Given the description of an element on the screen output the (x, y) to click on. 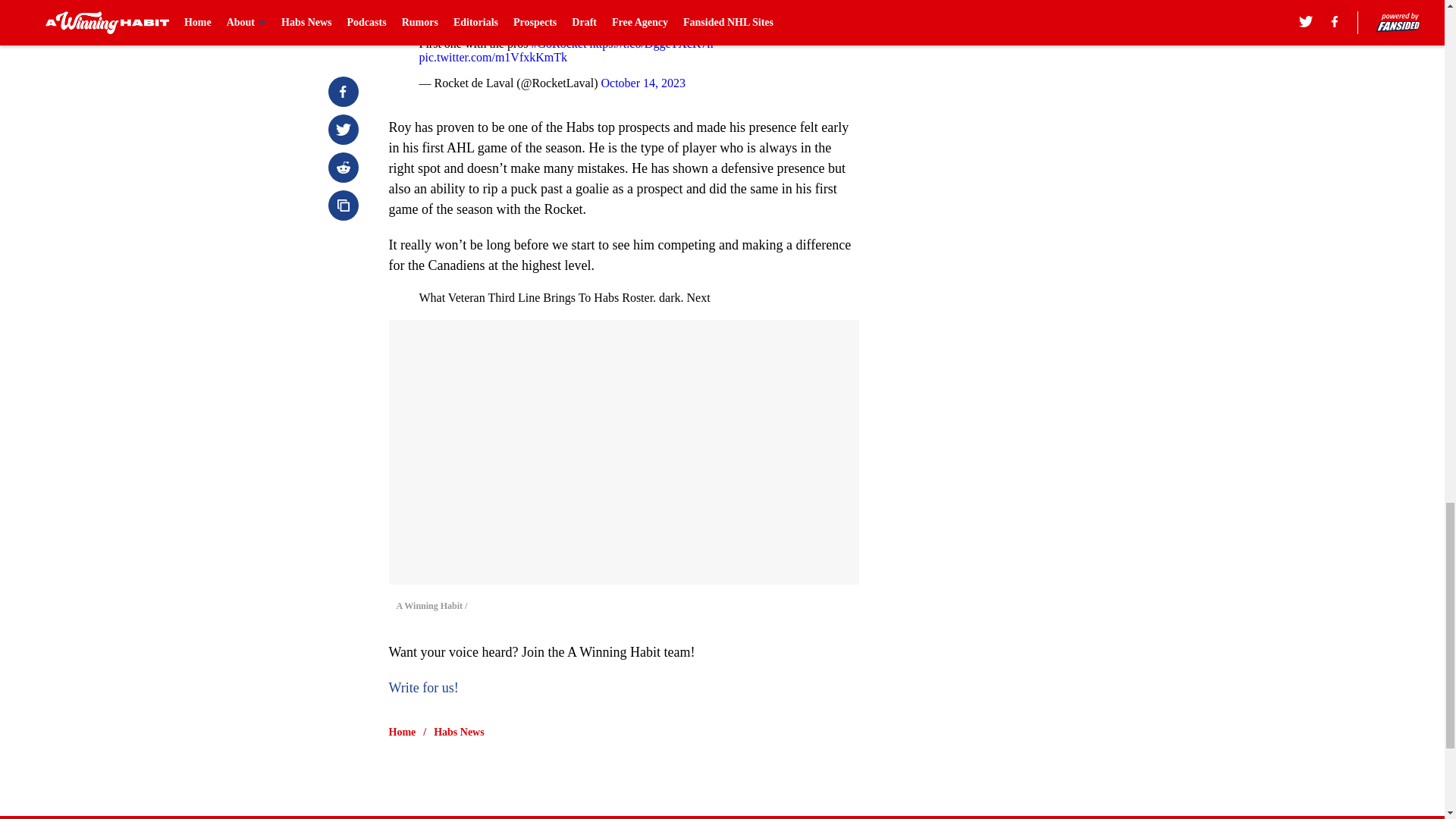
October 14, 2023 (642, 82)
Write for us! (423, 687)
Habs News (458, 732)
Home (401, 732)
